Given the description of an element on the screen output the (x, y) to click on. 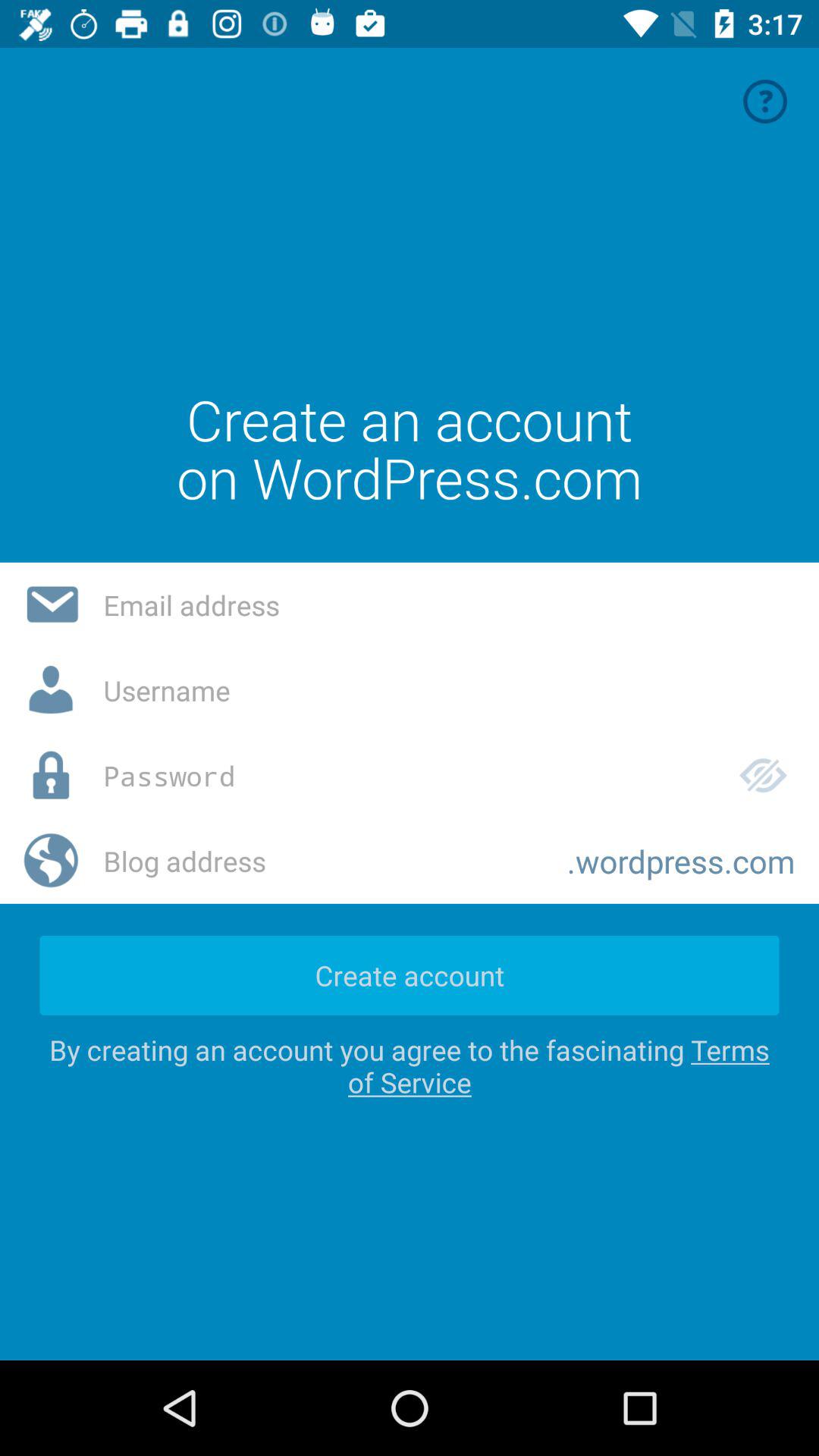
enter blog address (323, 860)
